Given the description of an element on the screen output the (x, y) to click on. 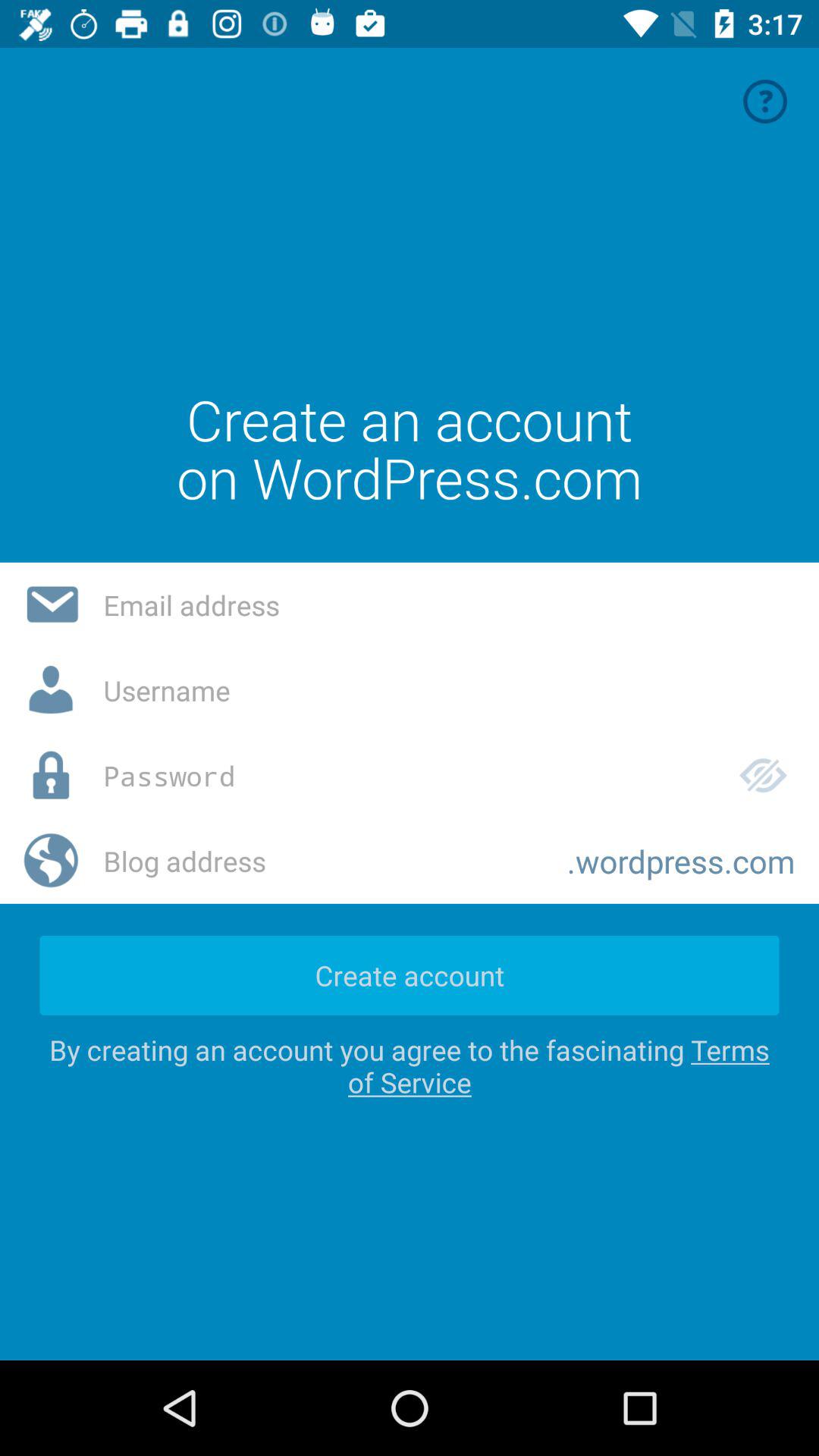
enter blog address (323, 860)
